Given the description of an element on the screen output the (x, y) to click on. 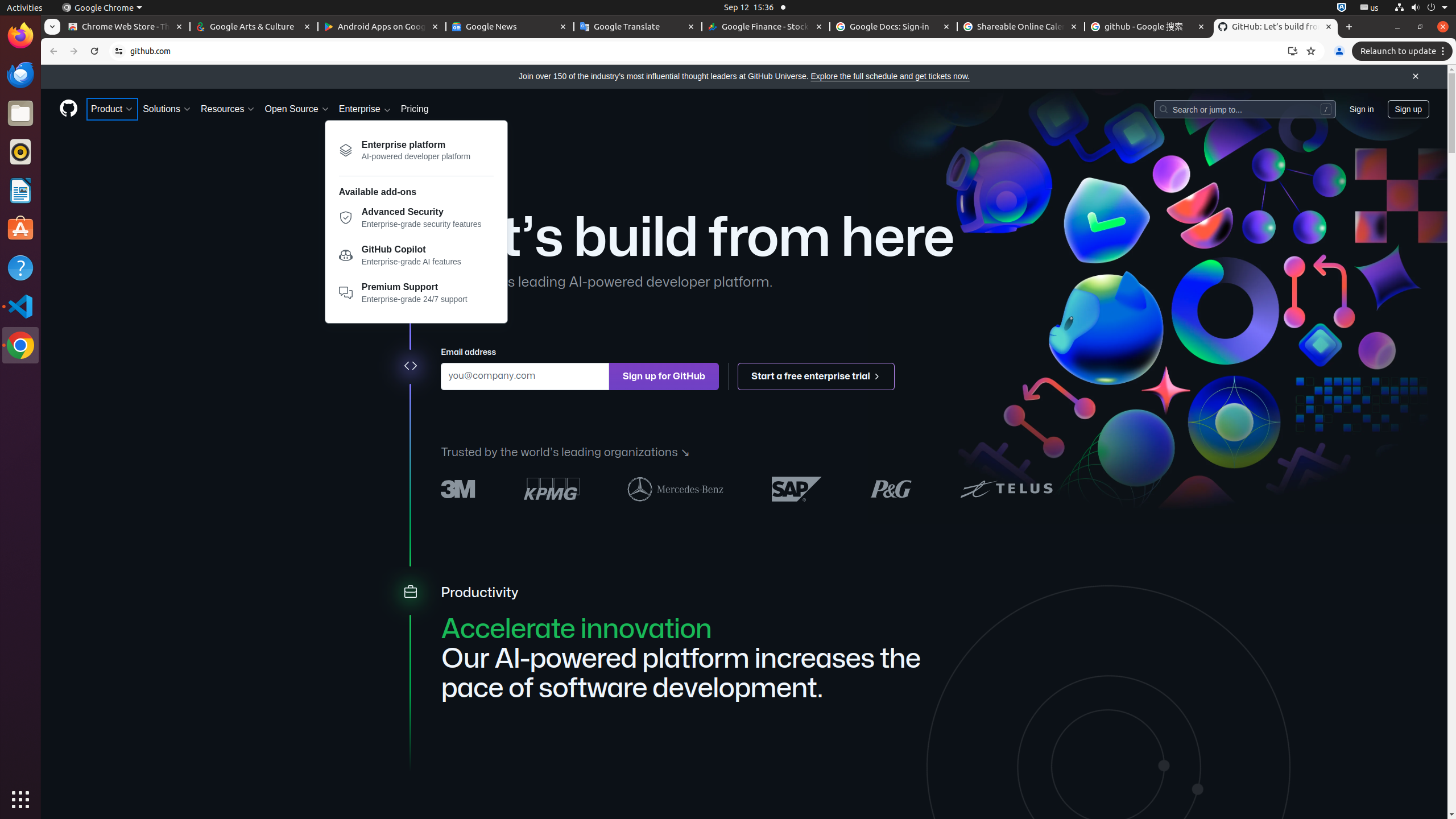
View site information Element type: push-button (118, 51)
LibreOffice Writer Element type: push-button (20, 190)
Show Applications Element type: toggle-button (20, 799)
Rhythmbox Element type: push-button (20, 151)
Explore the full schedule and get tickets now. Element type: link (889, 75)
